Given the description of an element on the screen output the (x, y) to click on. 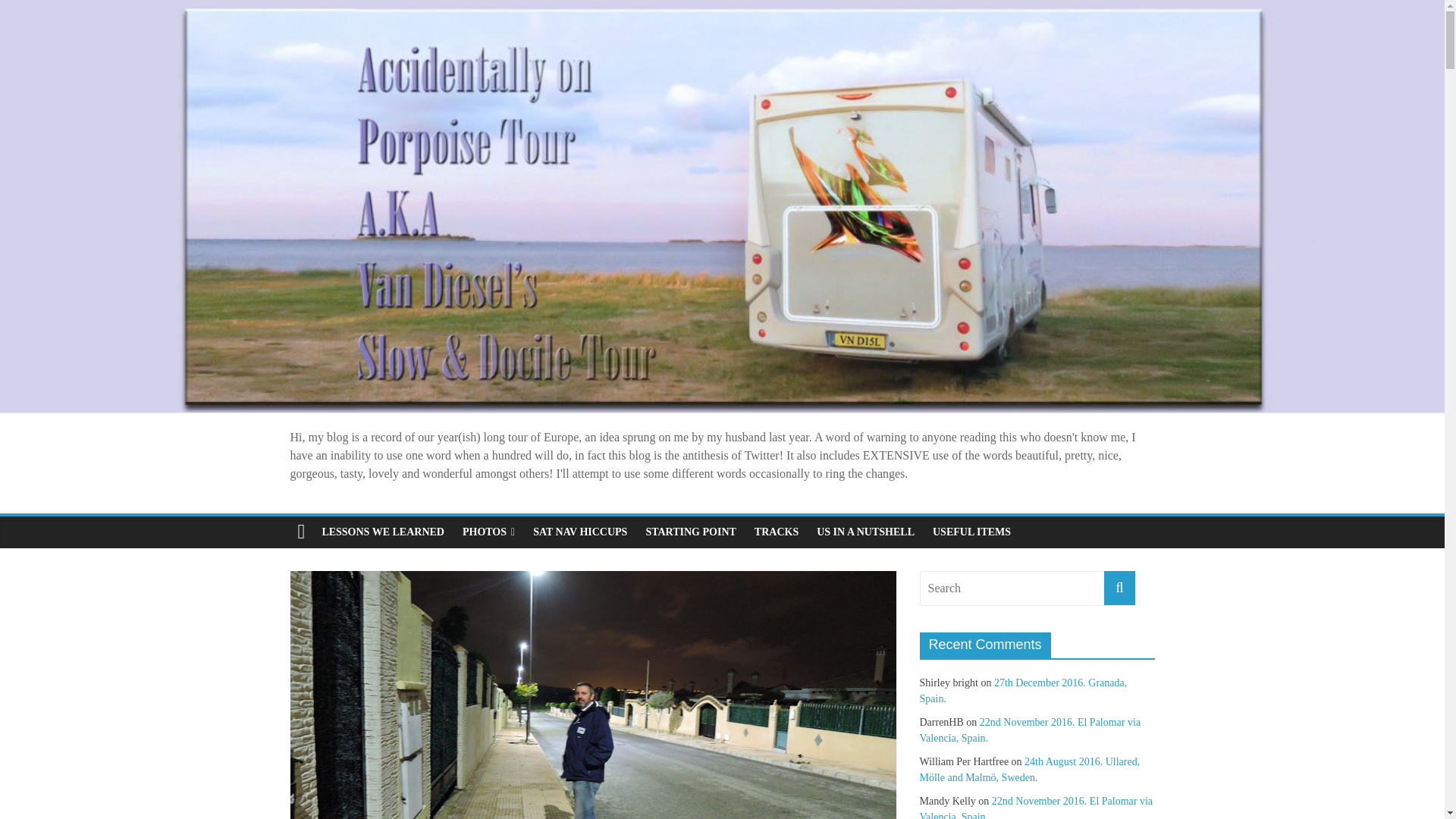
LESSONS WE LEARNED (382, 531)
PHOTOS (488, 531)
